Given the description of an element on the screen output the (x, y) to click on. 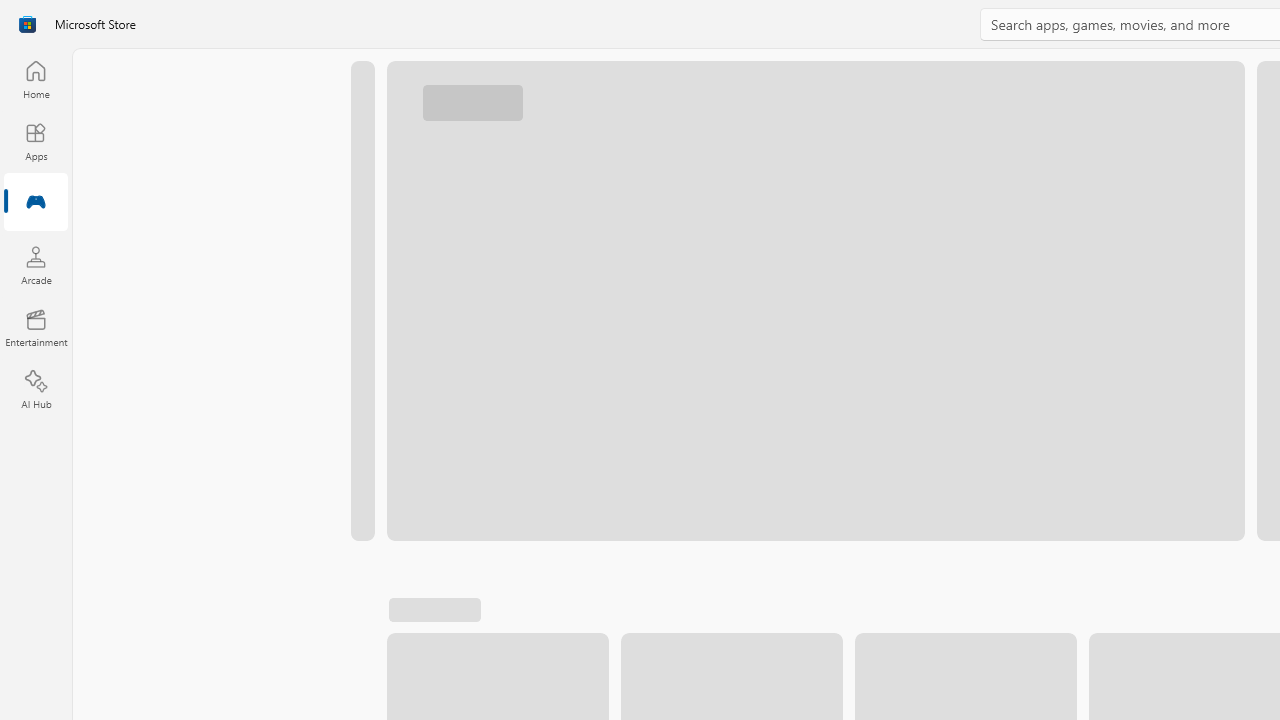
Page 1 (1261, 562)
Free Games (897, 619)
Apps (35, 141)
